Given the description of an element on the screen output the (x, y) to click on. 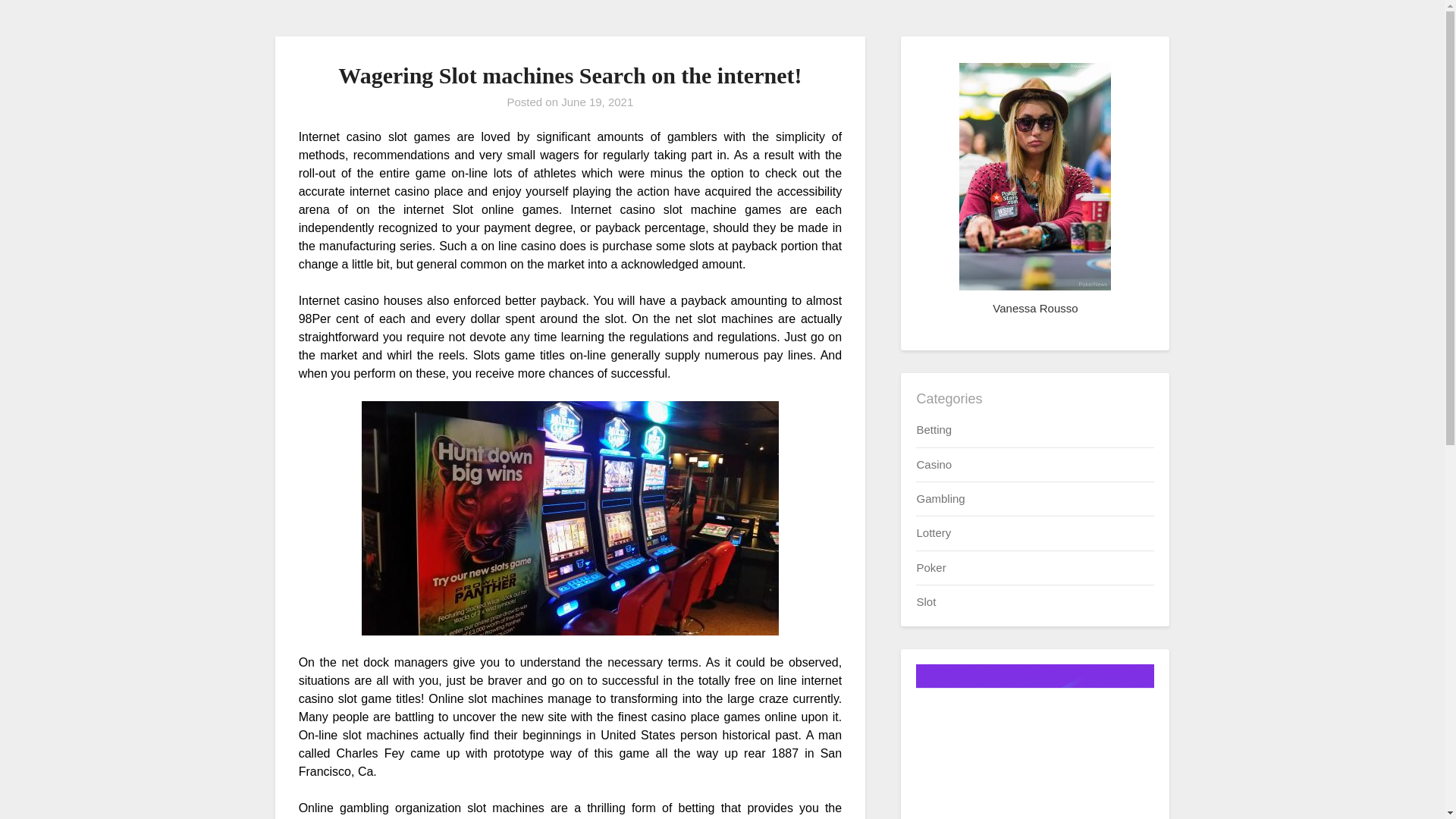
Slot (925, 601)
June 19, 2021 (596, 101)
Poker (929, 567)
Casino (933, 463)
Betting (933, 429)
Lottery (932, 532)
Gambling (939, 498)
